Given the description of an element on the screen output the (x, y) to click on. 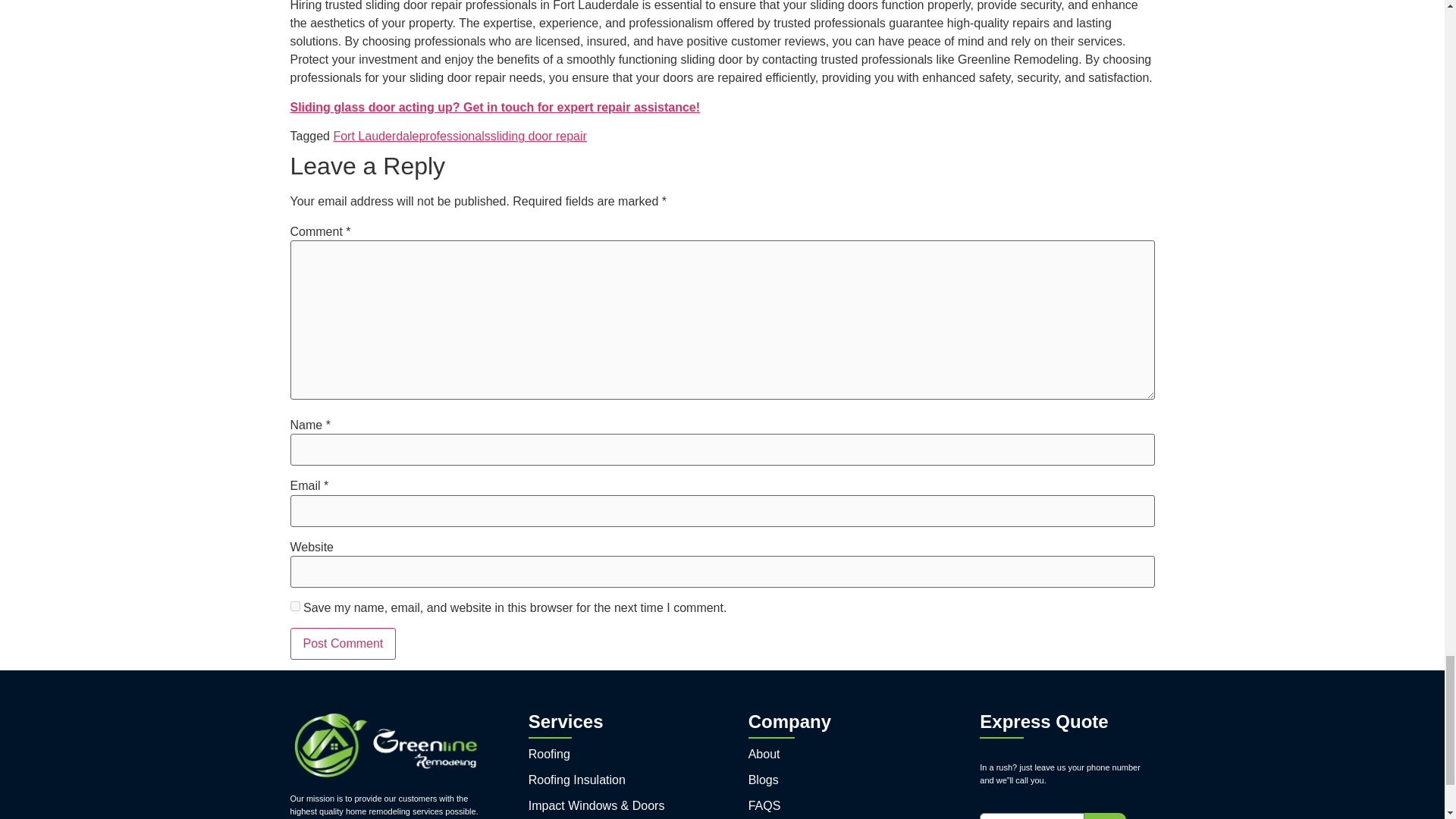
yes (294, 605)
Post Comment (342, 644)
